Given the description of an element on the screen output the (x, y) to click on. 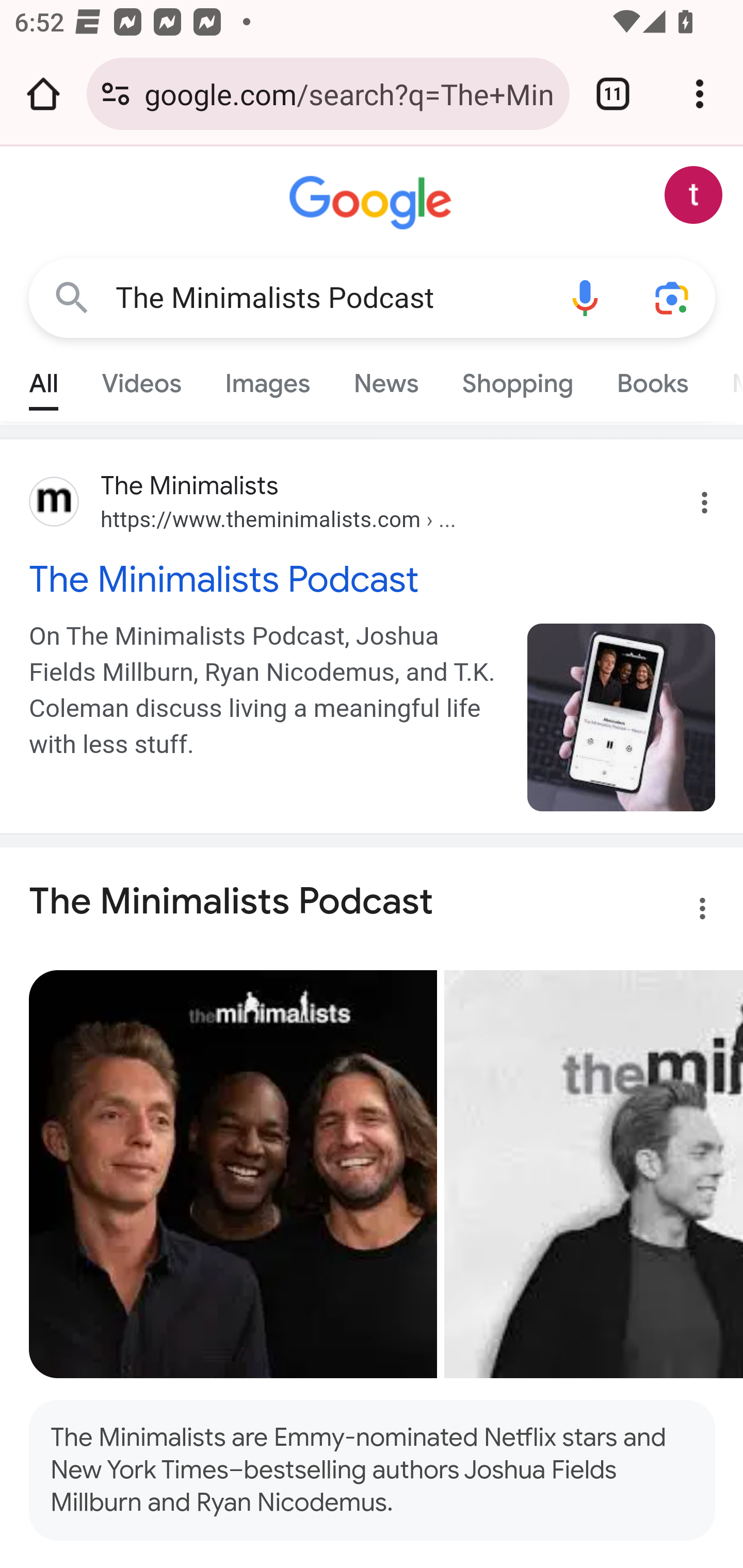
Open the home page (43, 93)
Connection is secure (115, 93)
Switch or close tabs (612, 93)
Customize and control Google Chrome (699, 93)
Google (372, 203)
Google Search (71, 296)
Search using your camera or photos (672, 296)
The Minimalists Podcast (328, 297)
Videos (141, 378)
Images (267, 378)
News (385, 378)
Shopping (516, 378)
Books (652, 378)
The Minimalists Podcast (372, 579)
podcast (621, 717)
More options (690, 912)
Ep. 001 | Declutter - YouTube (593, 1174)
